Given the description of an element on the screen output the (x, y) to click on. 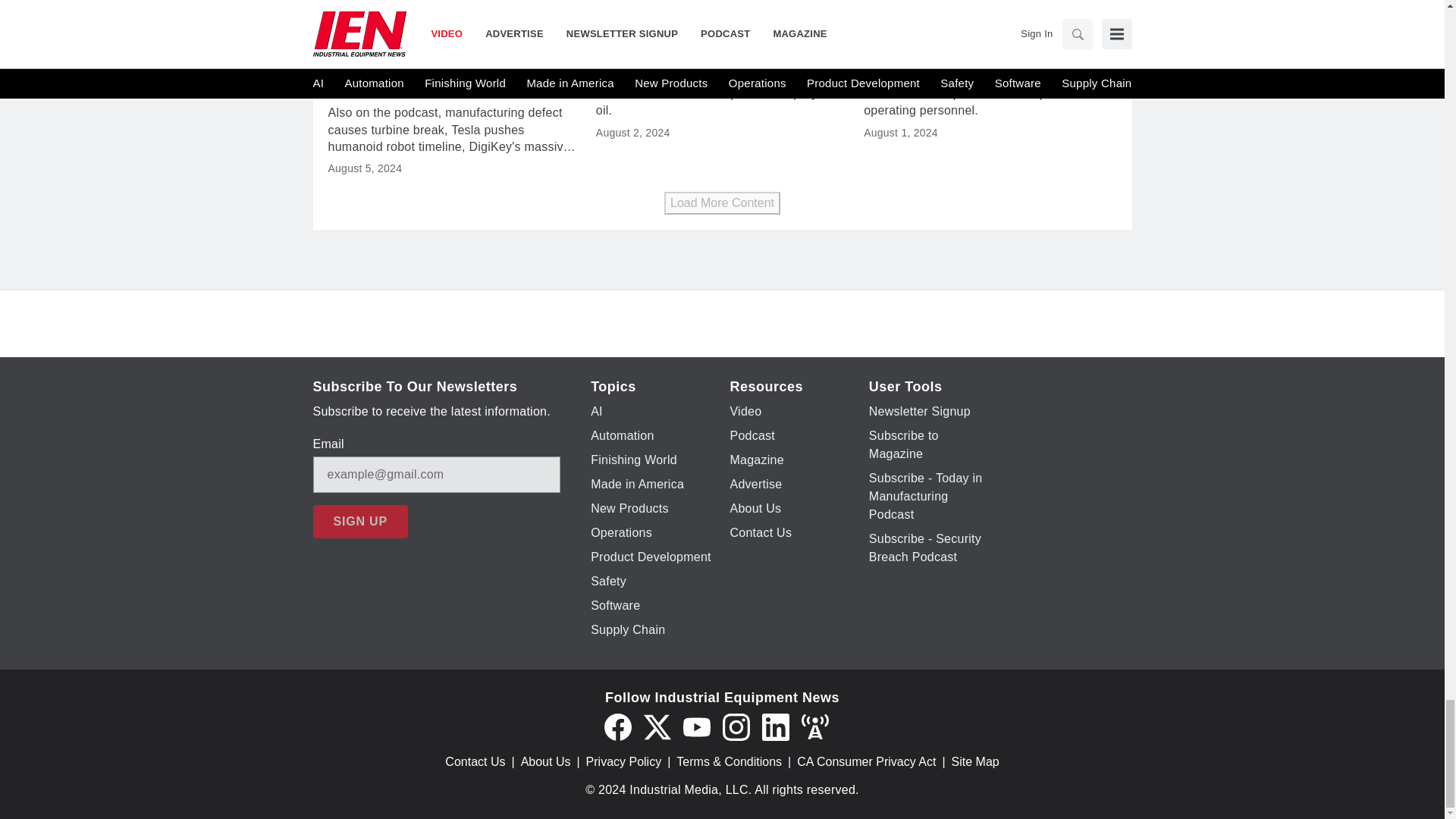
LinkedIn icon (775, 727)
YouTube icon (696, 727)
Twitter X icon (656, 727)
Facebook icon (617, 727)
Instagram icon (735, 727)
